Given the description of an element on the screen output the (x, y) to click on. 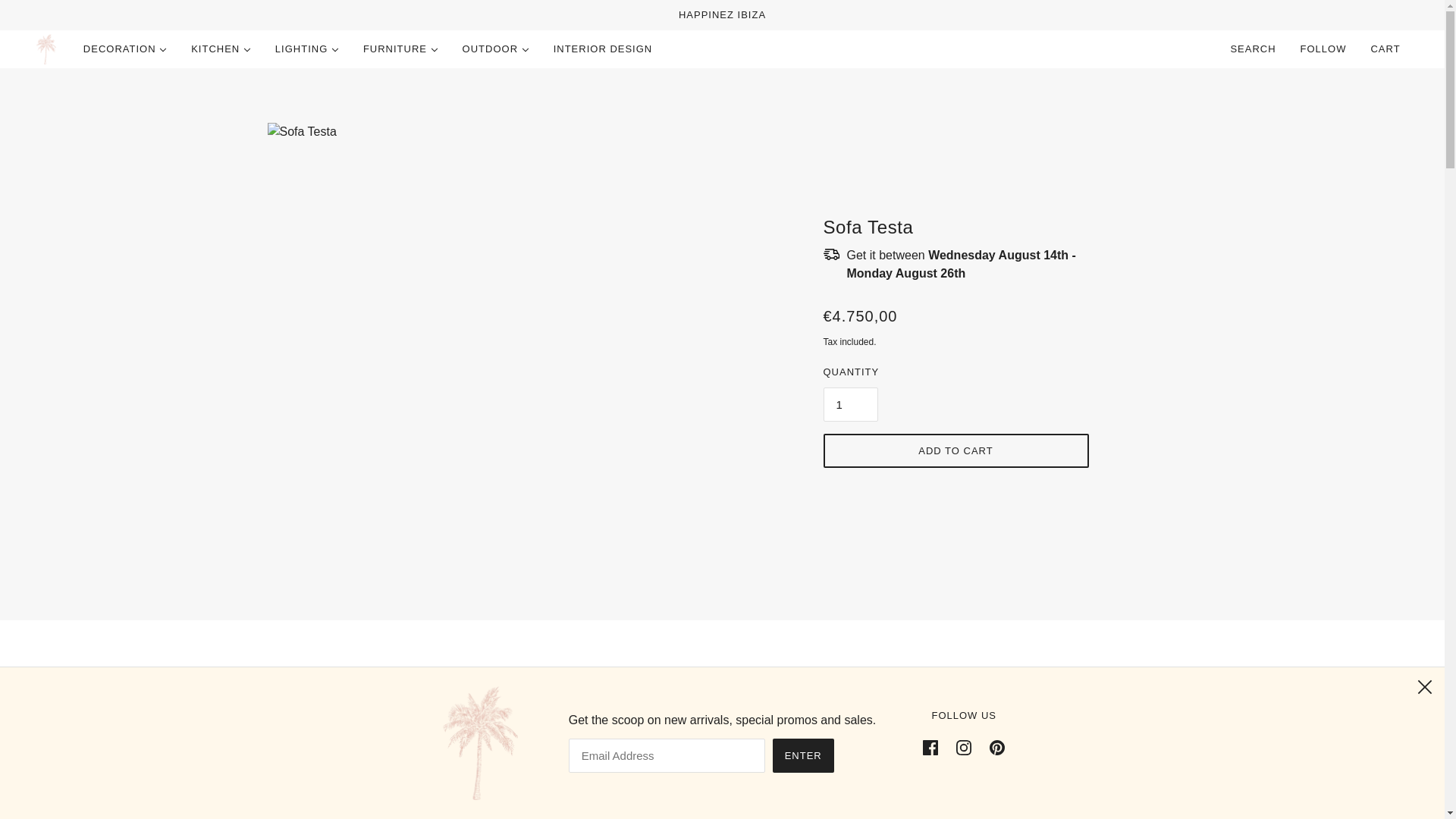
Instagram (963, 747)
KITCHEN (221, 48)
DECORATION (125, 48)
1 (850, 404)
